Given the description of an element on the screen output the (x, y) to click on. 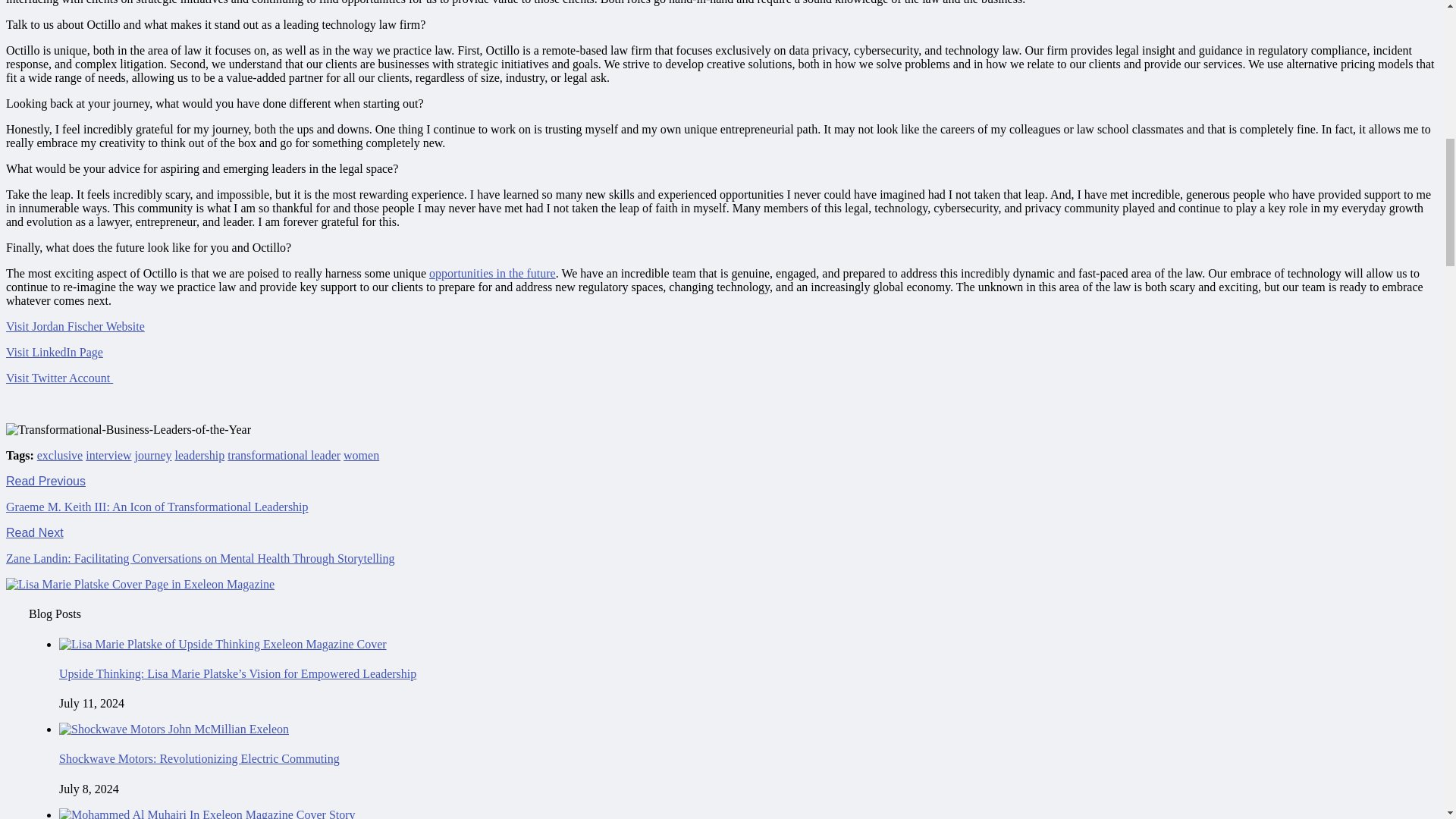
Shockwave Motors: Revolutionizing Electric Commuting (199, 758)
leadership (199, 454)
women (360, 454)
opportunities in the future (492, 273)
Shockwave Motors: Revolutionizing Electric Commuting (173, 728)
Latest Cover (140, 584)
Visit LinkedIn Page (54, 351)
exclusive (59, 454)
Visit Twitter Account  (59, 377)
journey (153, 454)
transformational leader (283, 454)
interview (108, 454)
Visit Jordan Fischer Website (74, 326)
